Given the description of an element on the screen output the (x, y) to click on. 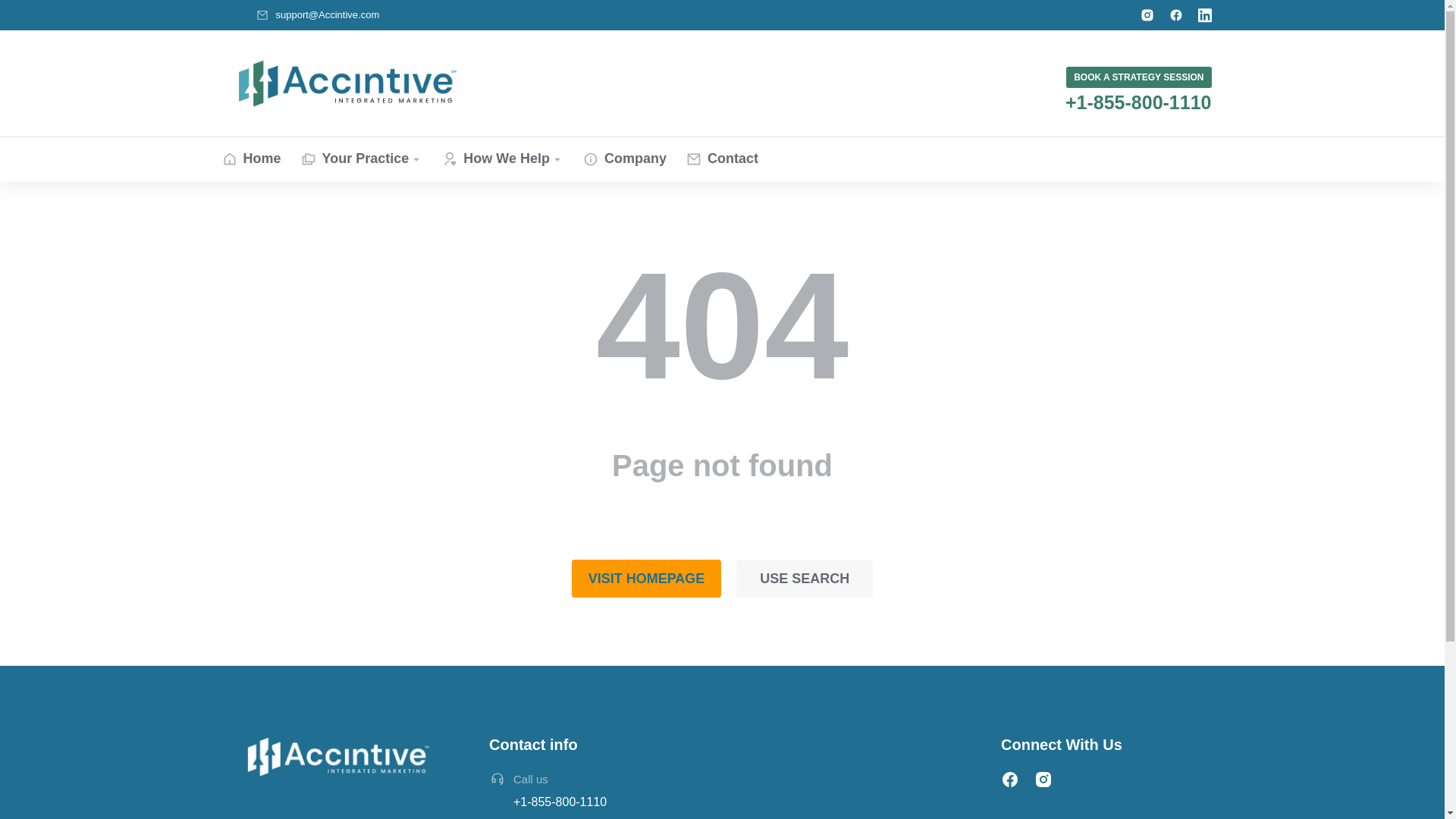
BOOK A STRATEGY SESSION (1138, 76)
How We Help (502, 158)
Home (251, 158)
Your Practice (362, 158)
